Given the description of an element on the screen output the (x, y) to click on. 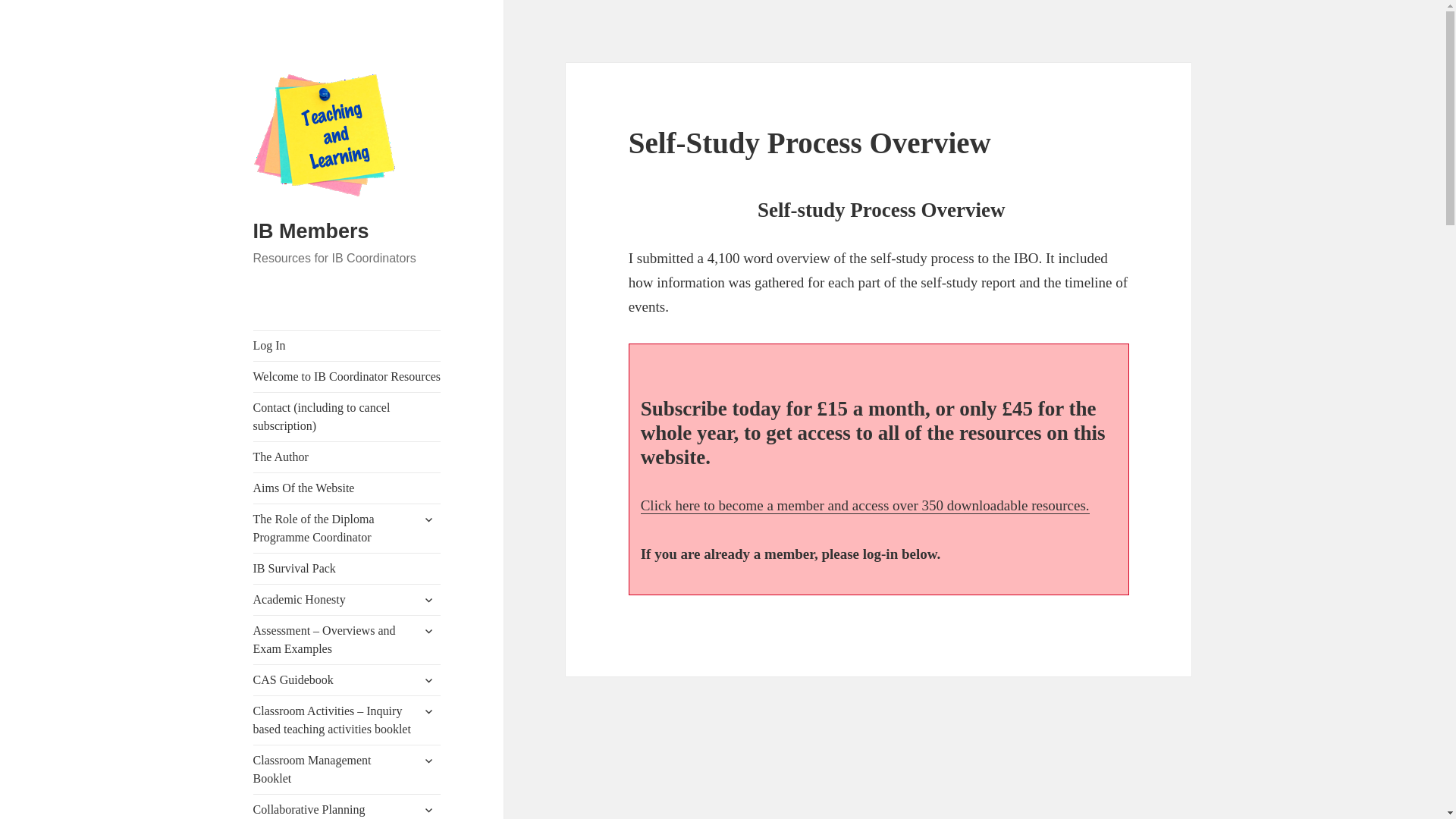
CAS Guidebook (347, 680)
The Author (347, 457)
Log In (347, 345)
Welcome to IB Coordinator Resources (347, 376)
IB Members (311, 231)
expand child menu (428, 711)
expand child menu (428, 680)
The Role of the Diploma Programme Coordinator (347, 528)
Academic Honesty (347, 599)
IB Survival Pack (347, 568)
